Given the description of an element on the screen output the (x, y) to click on. 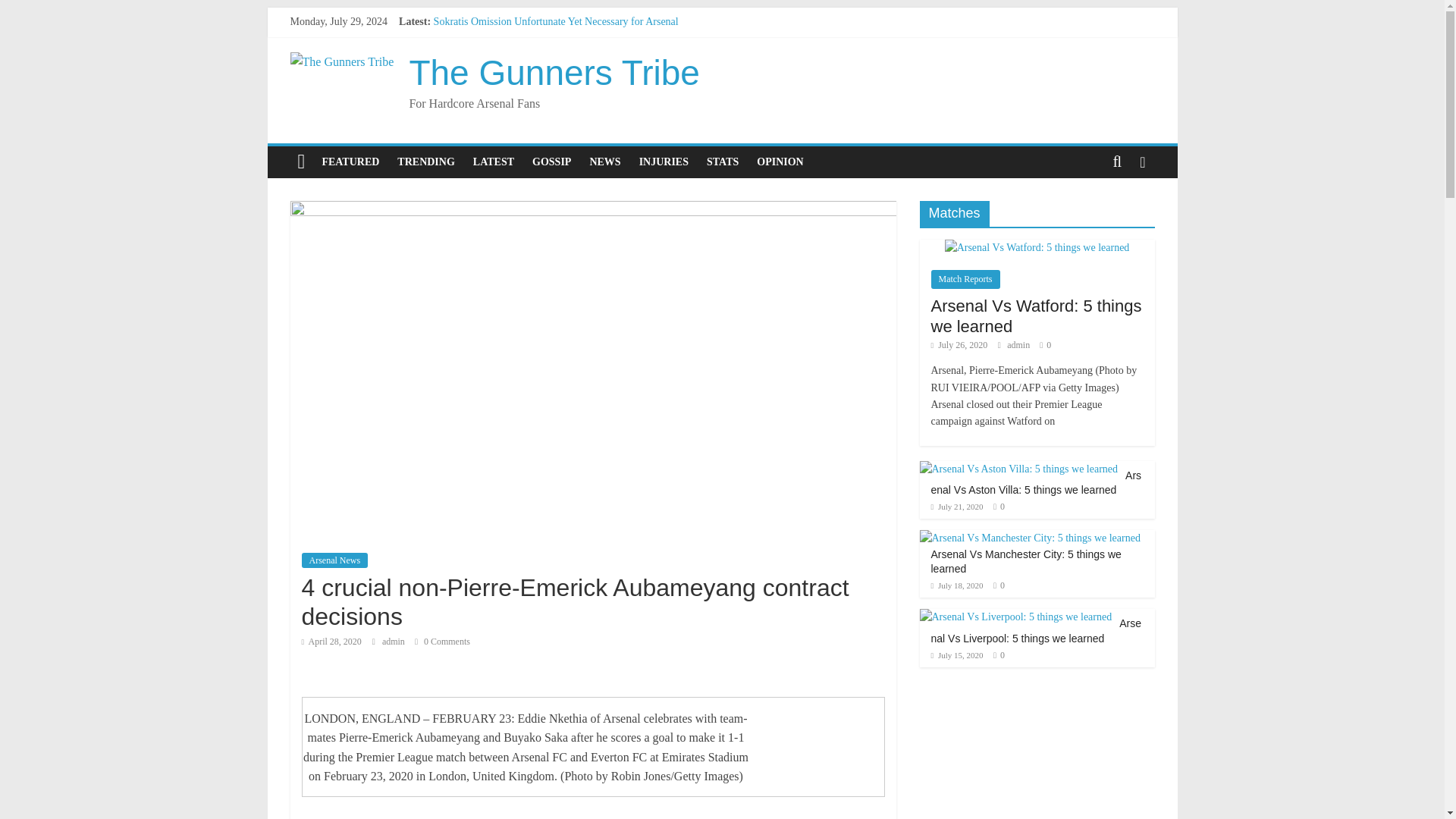
admin (394, 641)
Arsenal News (334, 560)
OPINION (780, 162)
TRENDING (425, 162)
Lucas Torreira is Forever Etched in Arsenal Folklore (545, 89)
NEWS (603, 162)
LATEST (493, 162)
7:21 am (331, 641)
STATS (722, 162)
Sokratis Omission Unfortunate Yet Necessary for Arsenal (555, 21)
April 28, 2020 (331, 641)
0 Comments (442, 641)
Sokratis Omission Unfortunate Yet Necessary for Arsenal (555, 21)
